Given the description of an element on the screen output the (x, y) to click on. 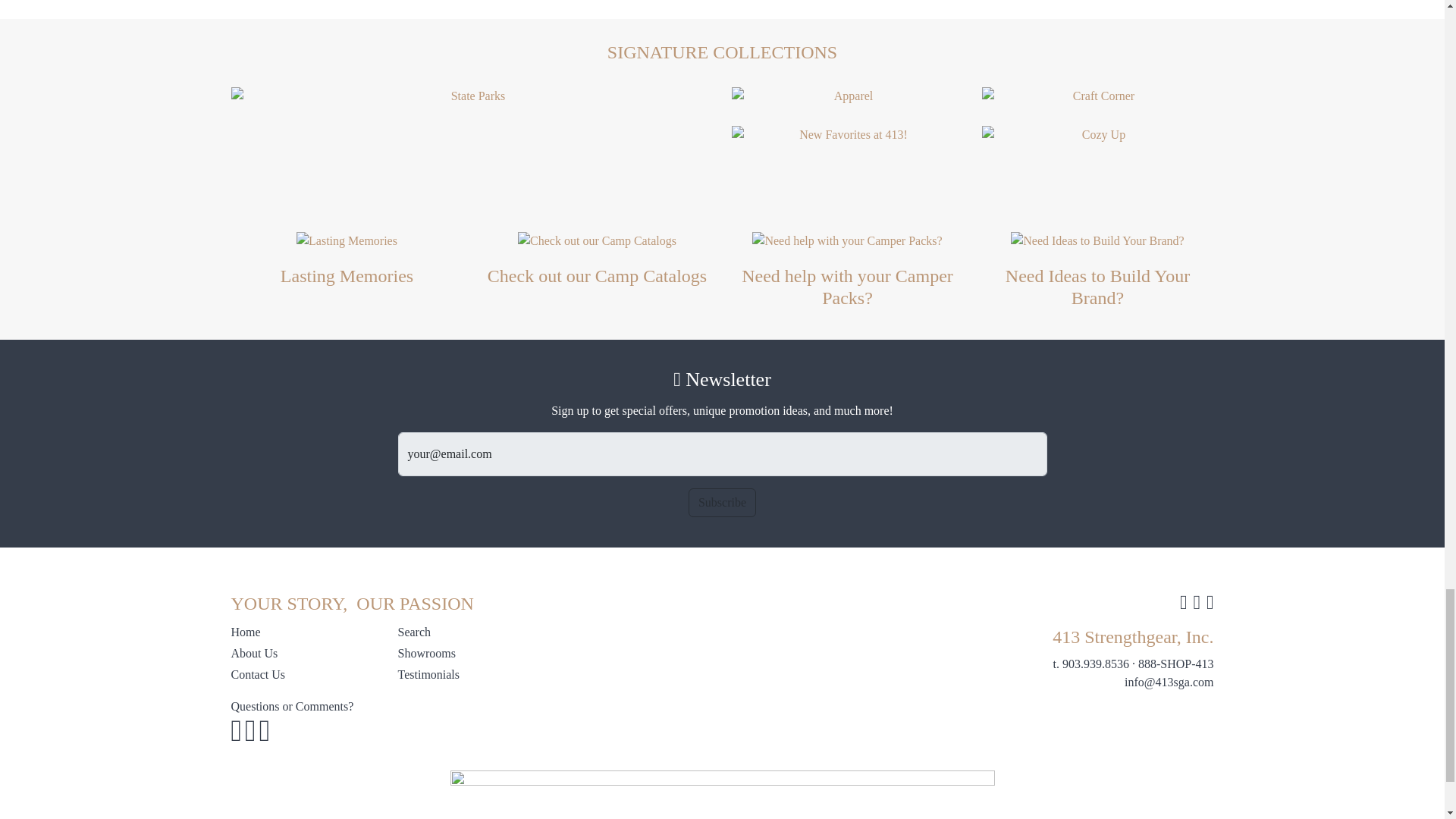
Subscribe (721, 502)
